Given the description of an element on the screen output the (x, y) to click on. 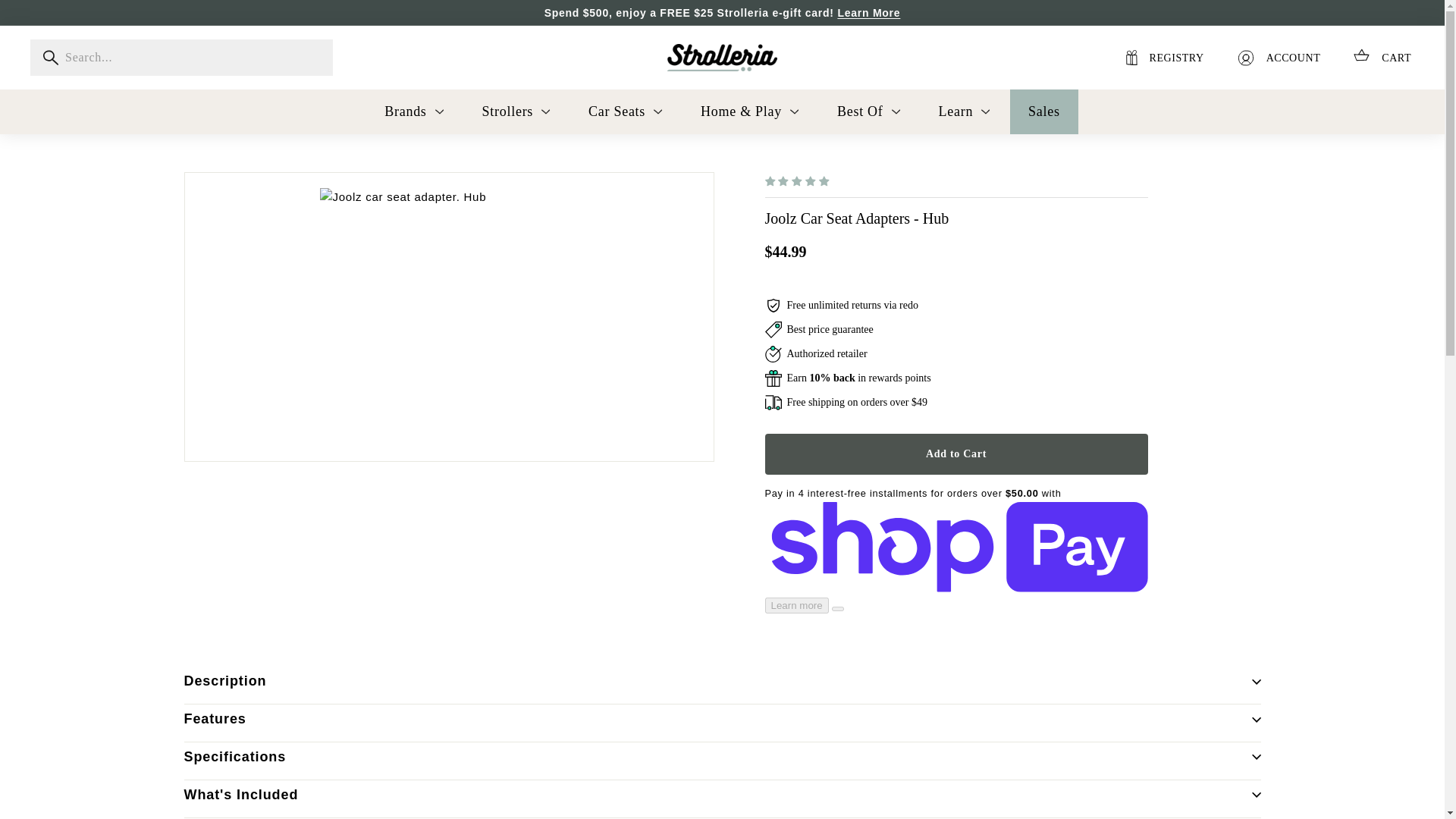
Search... (181, 57)
REGISTRY (1164, 57)
ACCOUNT (1279, 57)
Strollers (517, 111)
CART (1381, 57)
Brands (414, 111)
Learn More (868, 12)
Learn More  (868, 12)
